Given the description of an element on the screen output the (x, y) to click on. 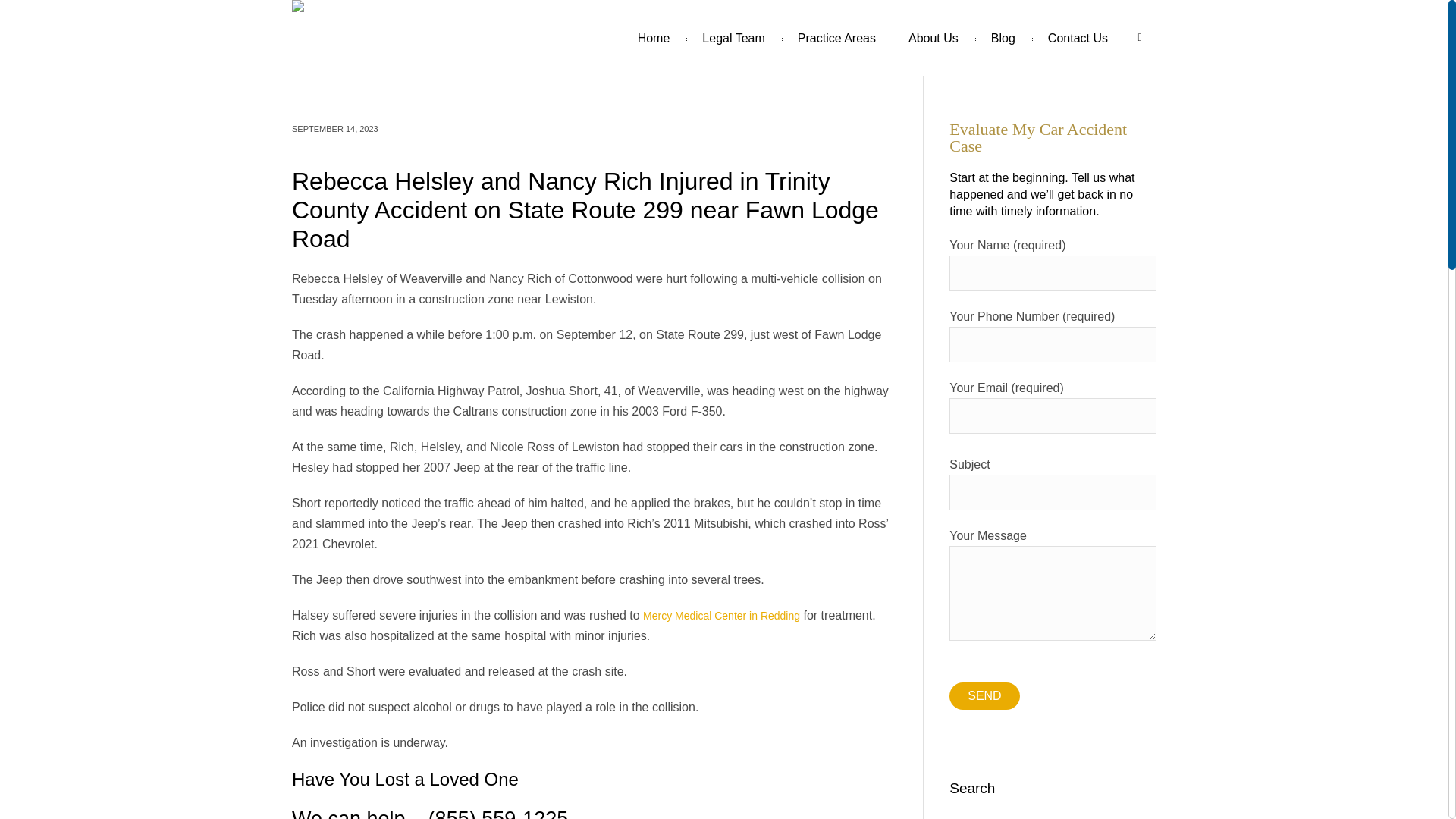
Practice Areas (836, 37)
Mercy Medical Center in Redding (721, 615)
Send (984, 696)
Contact Us (1078, 37)
Send (984, 696)
Blog (1002, 37)
Legal Team (732, 37)
September 14, 2023 (335, 128)
Home (653, 37)
About Us (933, 37)
